Given the description of an element on the screen output the (x, y) to click on. 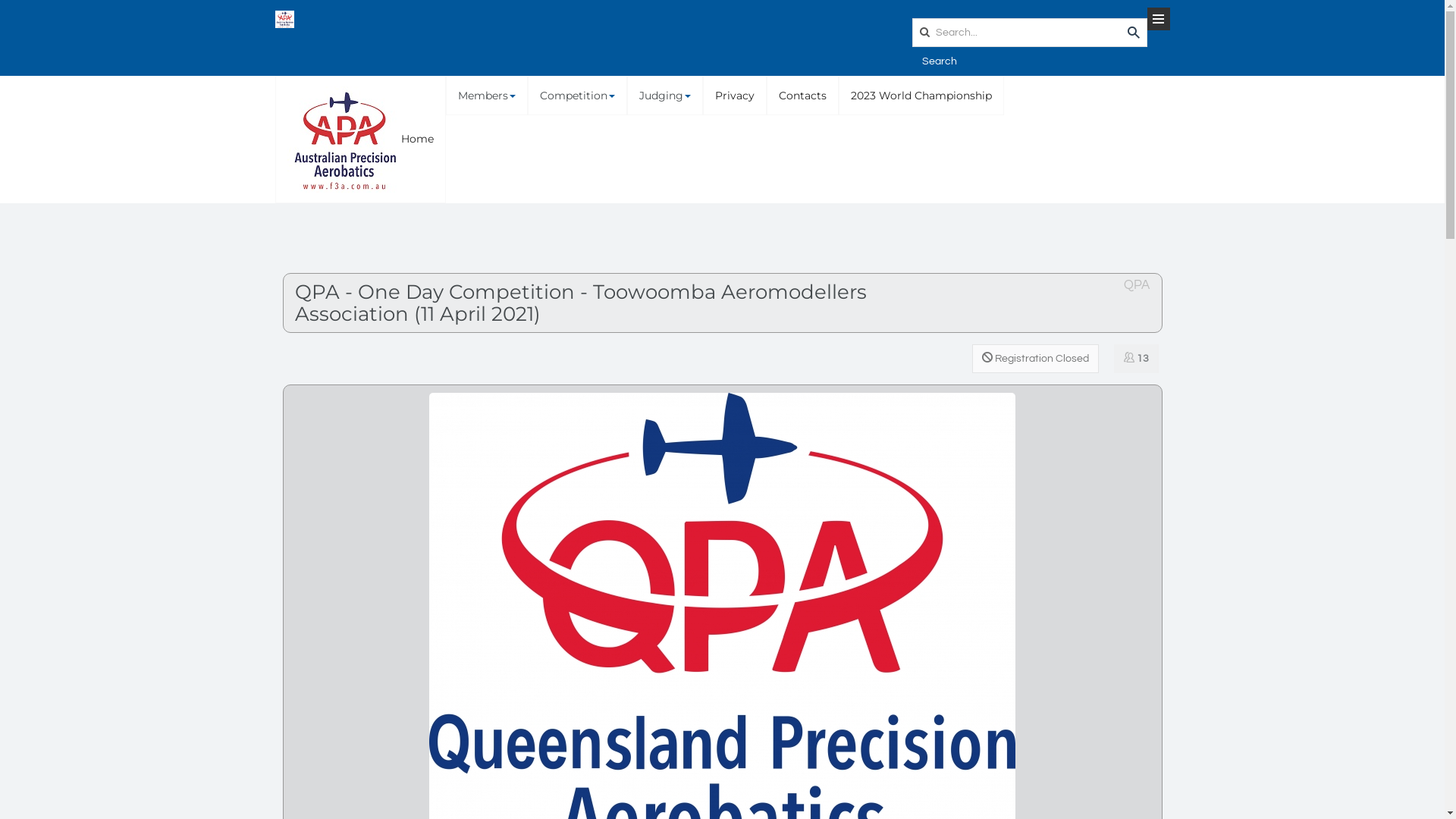
Australian Precision Aerobatics Inc. Element type: hover (284, 19)
 13 Element type: text (1135, 358)
 Registration Closed Element type: text (1035, 358)
2023 World Championship Element type: text (920, 95)
Contacts Element type: text (802, 95)
Search Element type: text (938, 61)
Privacy Element type: text (734, 95)
open Element type: hover (1157, 18)
Home Element type: text (360, 139)
